Given the description of an element on the screen output the (x, y) to click on. 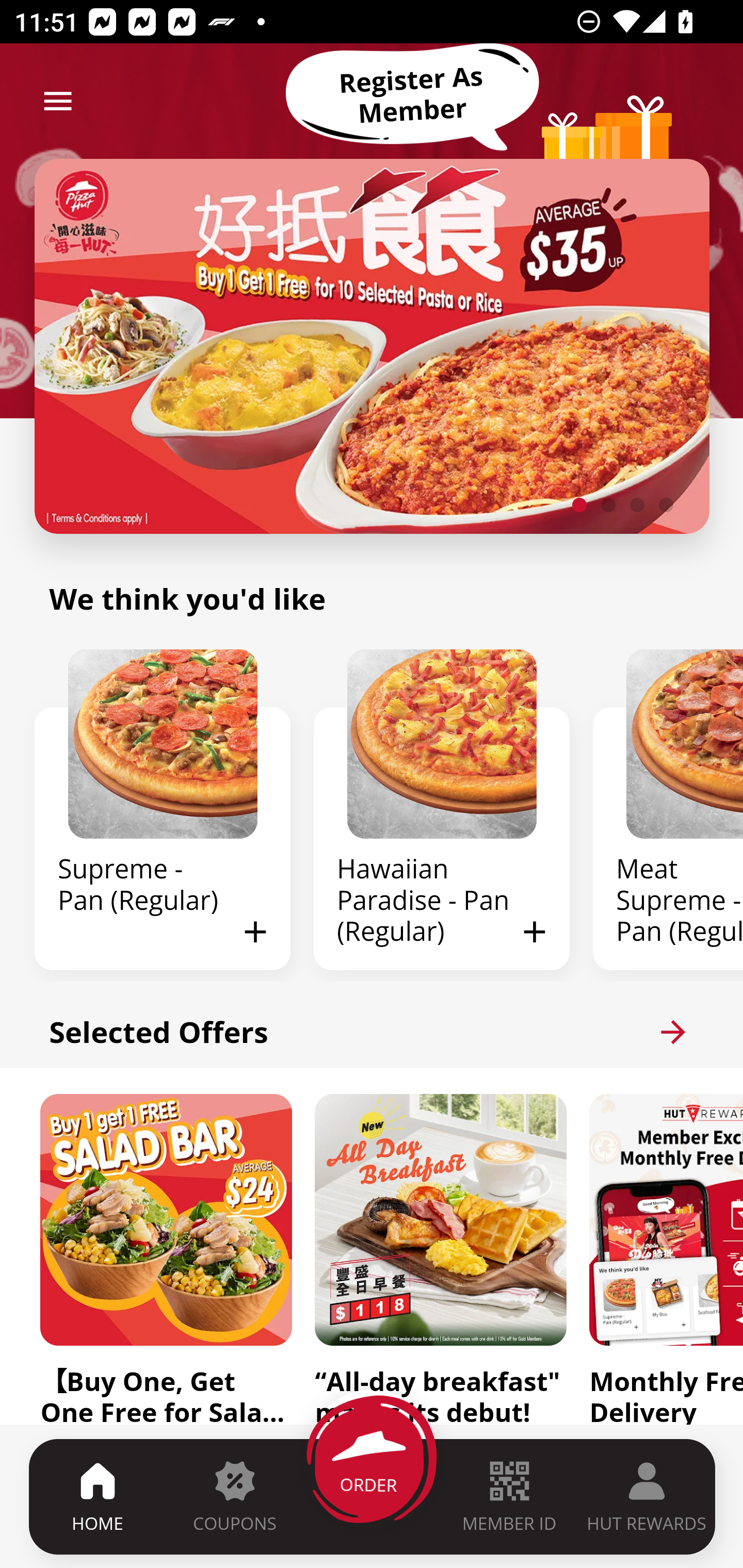
Register As Member (411, 95)
menu (58, 100)
arrow_forward (672, 1031)
HOME (97, 1496)
COUPONS (234, 1496)
ORDER (372, 1496)
MEMBER ID (509, 1496)
HUT REWARDS (647, 1496)
